Given the description of an element on the screen output the (x, y) to click on. 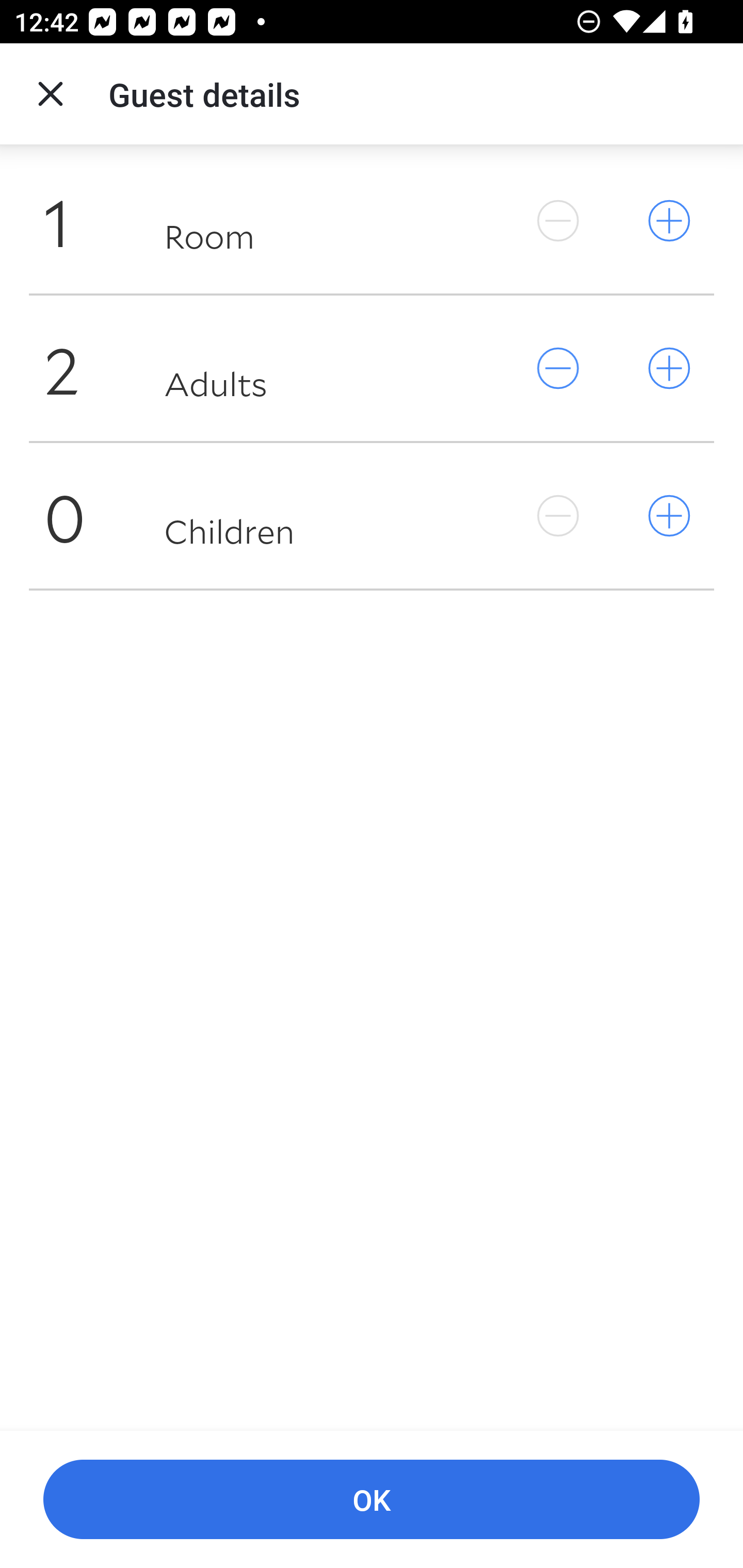
OK (371, 1499)
